Given the description of an element on the screen output the (x, y) to click on. 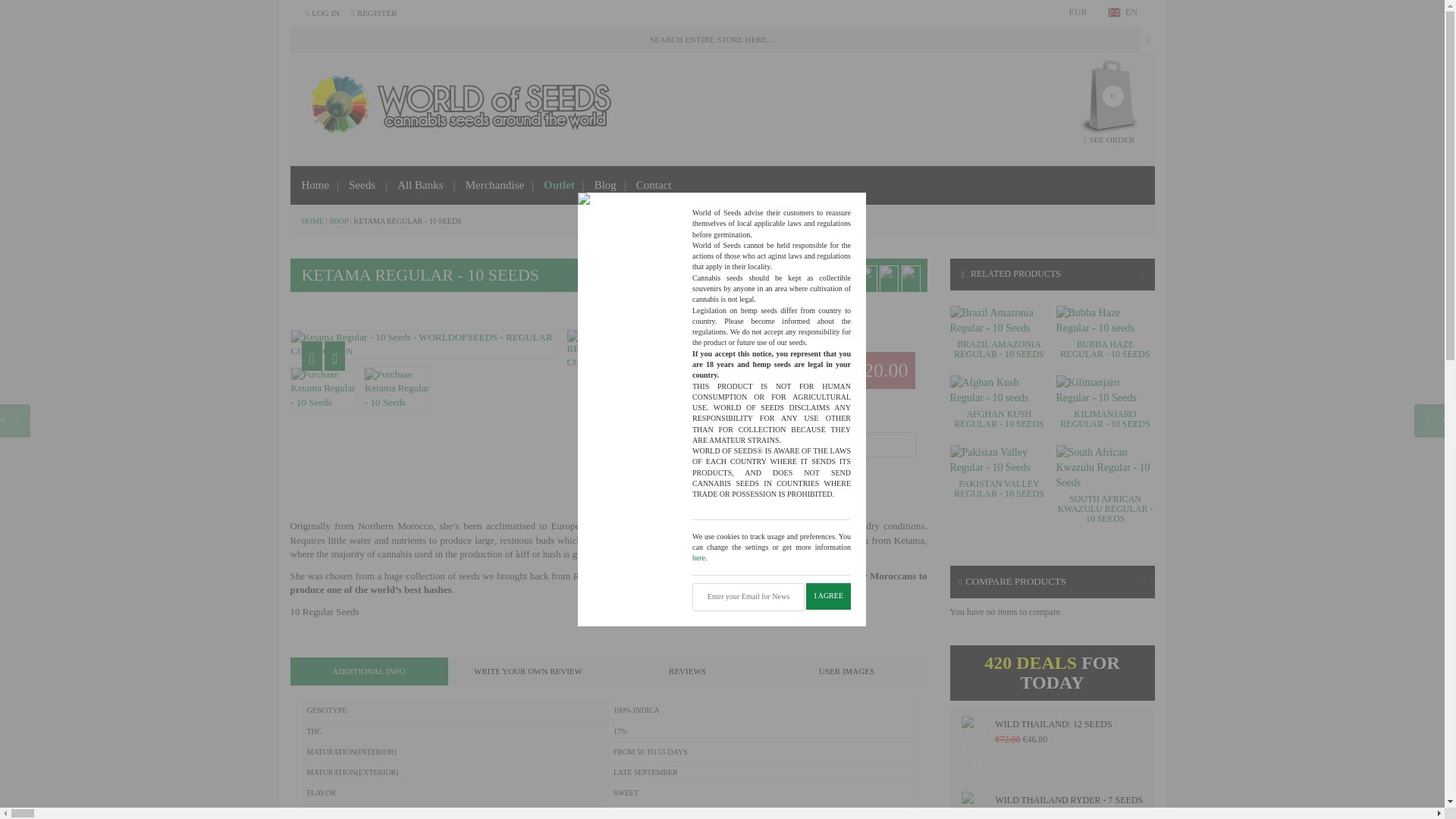
1 (835, 444)
LOG IN (322, 12)
Log In (322, 12)
REGISTER (373, 12)
Currency (1078, 12)
Language (1131, 12)
See order (1108, 140)
Register (373, 12)
Search entire store here... (714, 39)
Cannabis seeds World of seeds (453, 108)
SEE ORDER (1108, 140)
My Cart: 0 items (1108, 94)
